Given the description of an element on the screen output the (x, y) to click on. 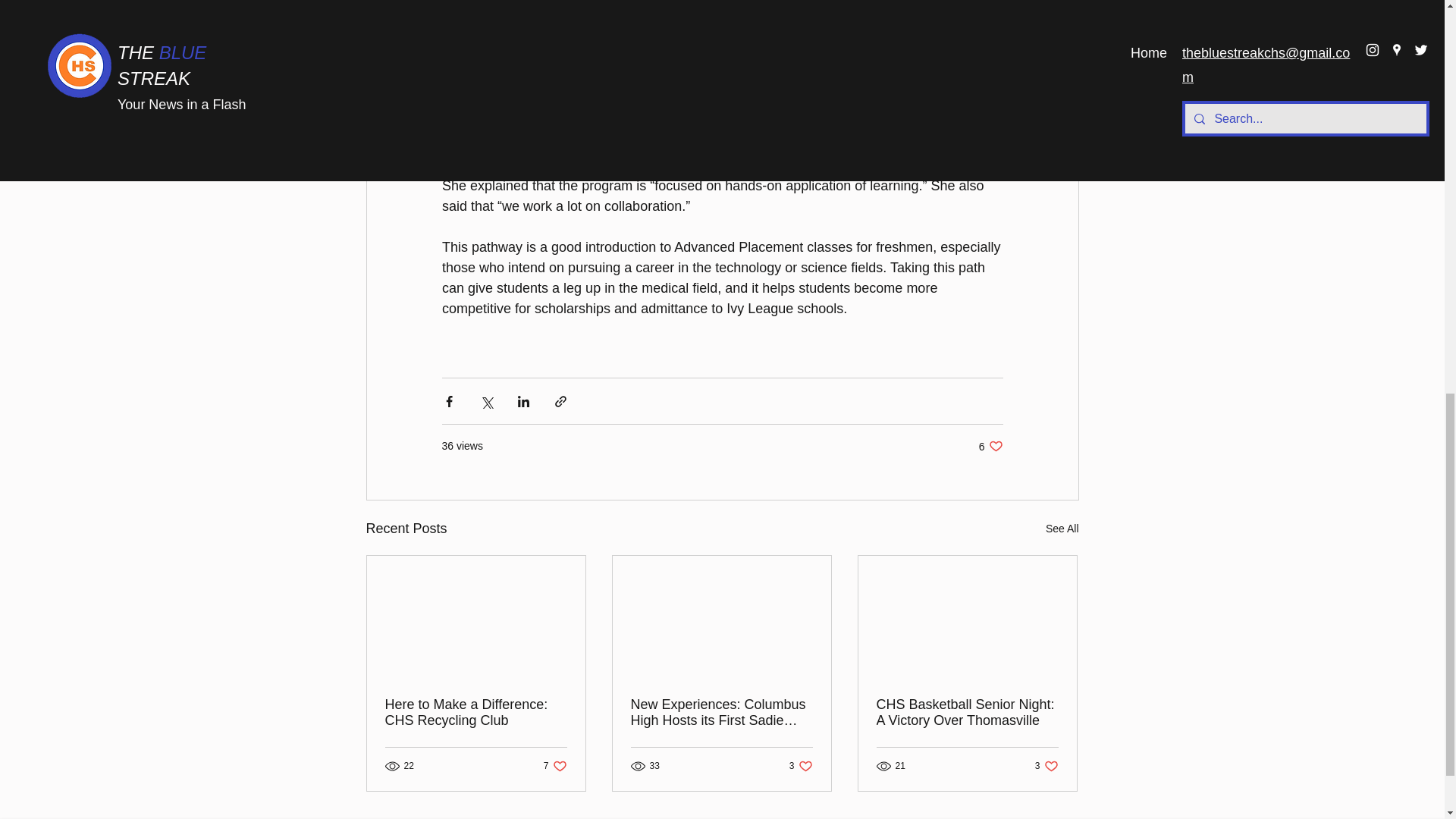
Here to Make a Difference: CHS Recycling Club (800, 766)
CHS Basketball Senior Night: A Victory Over Thomasville (555, 766)
See All (476, 712)
